Given the description of an element on the screen output the (x, y) to click on. 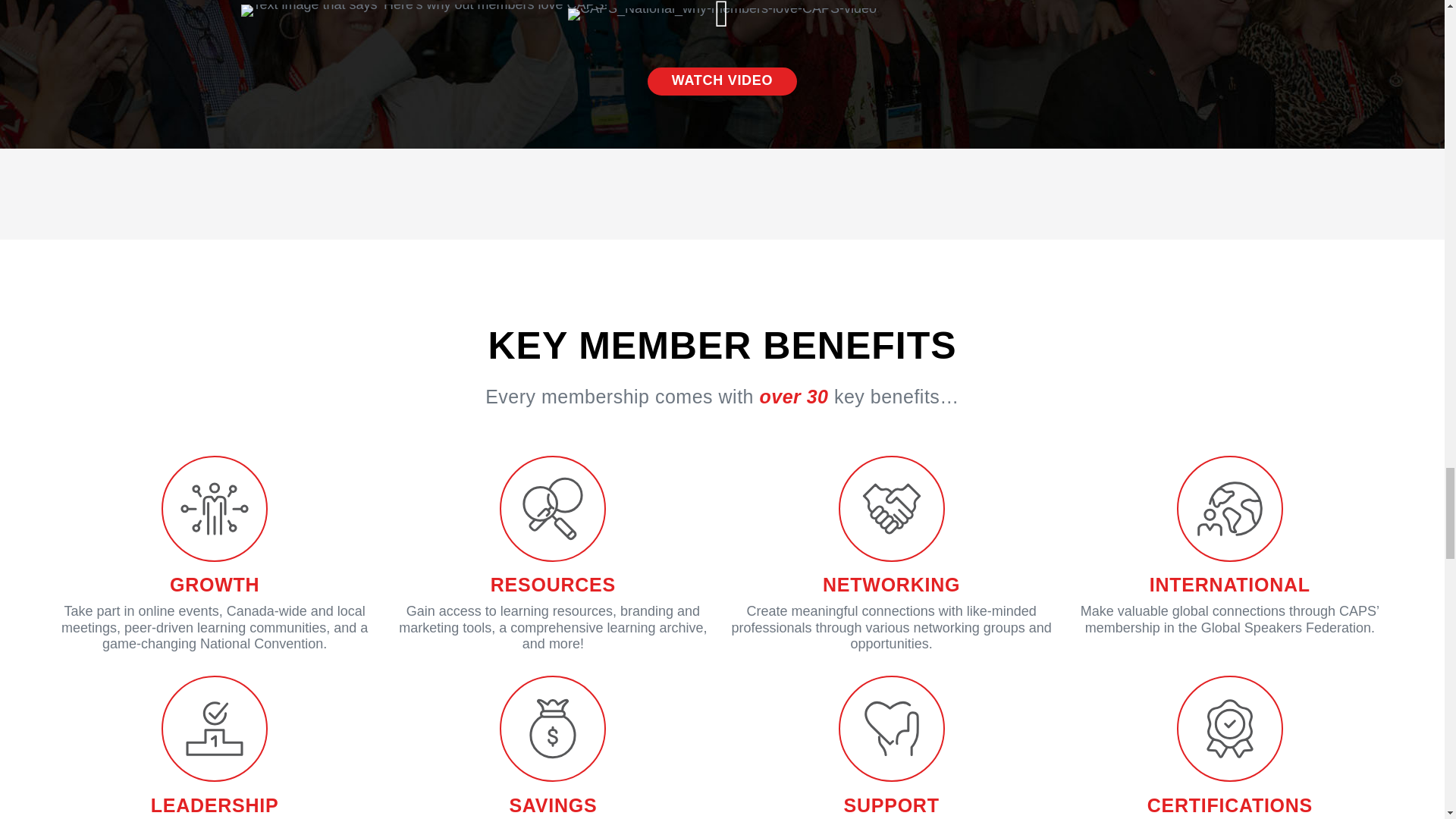
Professional Speakers Key Member Benefits - Support Icon (891, 728)
Professional Speakers Key Member Benefits - Networking Icon (891, 508)
Professional Speakers Key Member Benefits - Resources Icon (552, 508)
Professional Speakers Key Member Benefits - Savings Icon (552, 728)
Professional Speakers Key Member Benefits - Leadership Icon (214, 728)
